Given the description of an element on the screen output the (x, y) to click on. 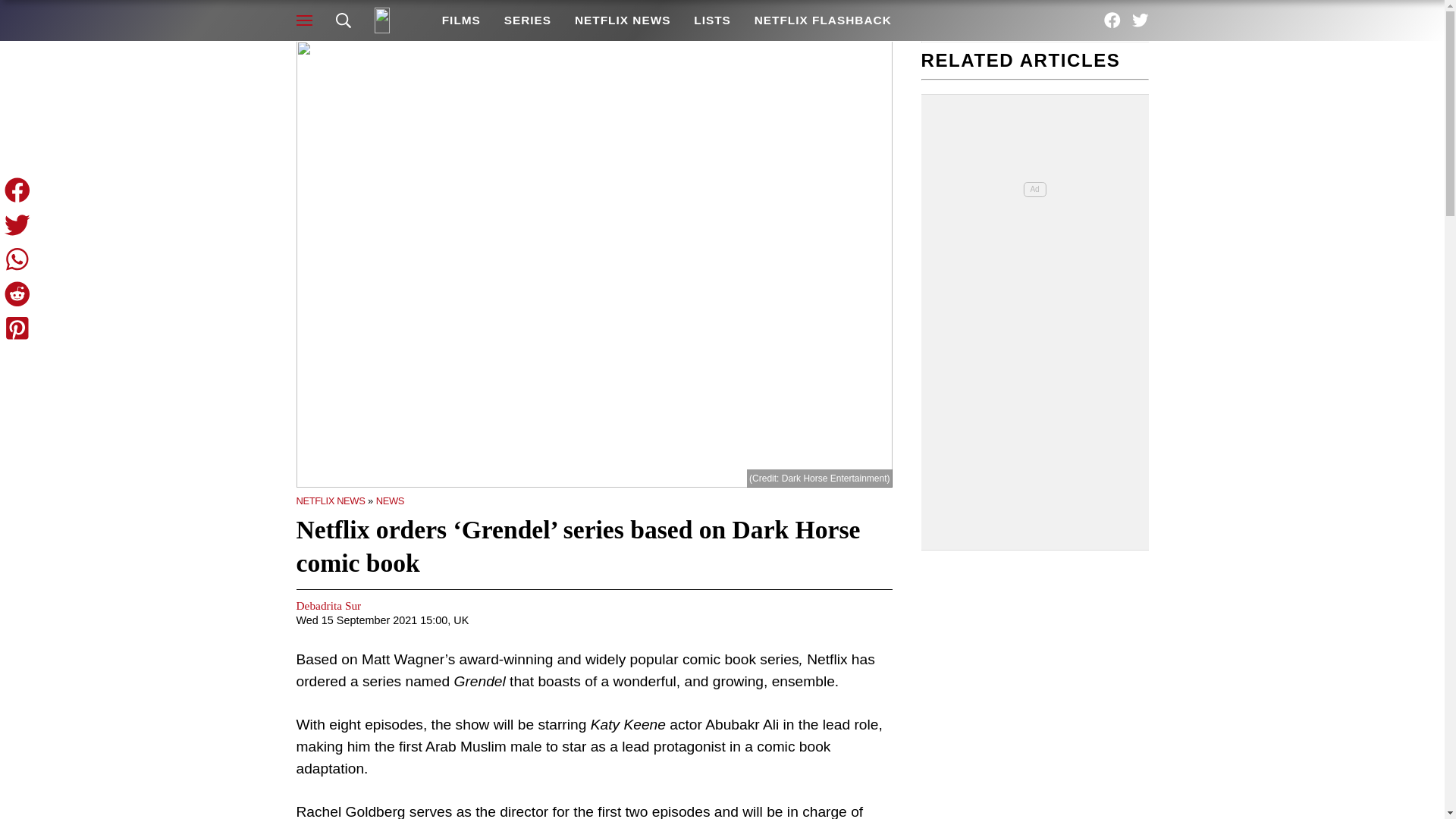
SERIES (527, 20)
Best Of Netflix on Twitter (1140, 20)
NETFLIX NEWS (621, 20)
NETFLIX FLASHBACK (822, 20)
LISTS (712, 20)
NETFLIX NEWS (330, 500)
Debadrita Sur (328, 605)
Best Of Netflix (396, 20)
FILMS (460, 20)
NEWS (389, 500)
